Given the description of an element on the screen output the (x, y) to click on. 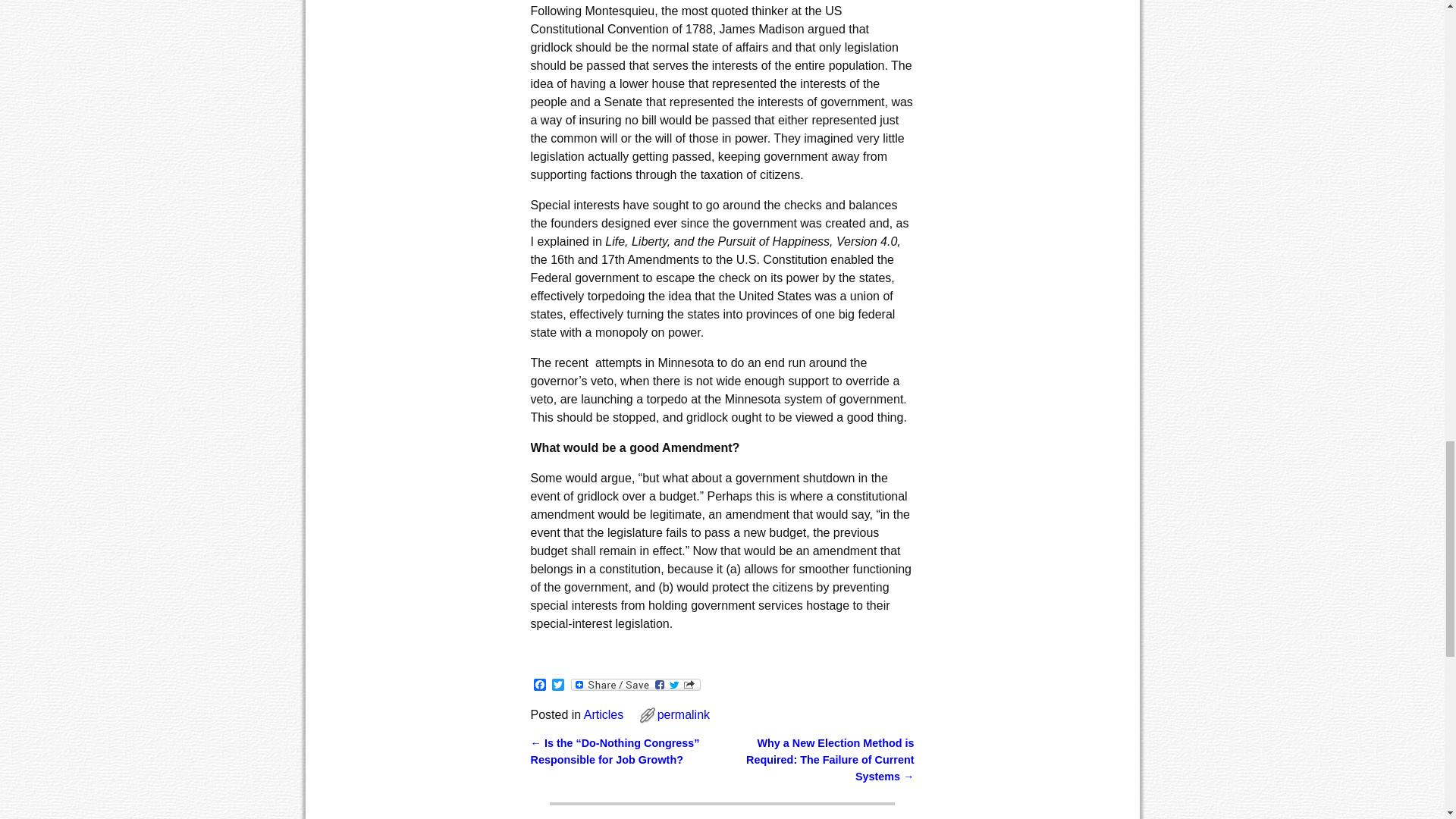
Articles (603, 714)
Facebook (539, 685)
Twitter (557, 685)
Facebook (539, 685)
permalink (684, 714)
Twitter (557, 685)
